Given the description of an element on the screen output the (x, y) to click on. 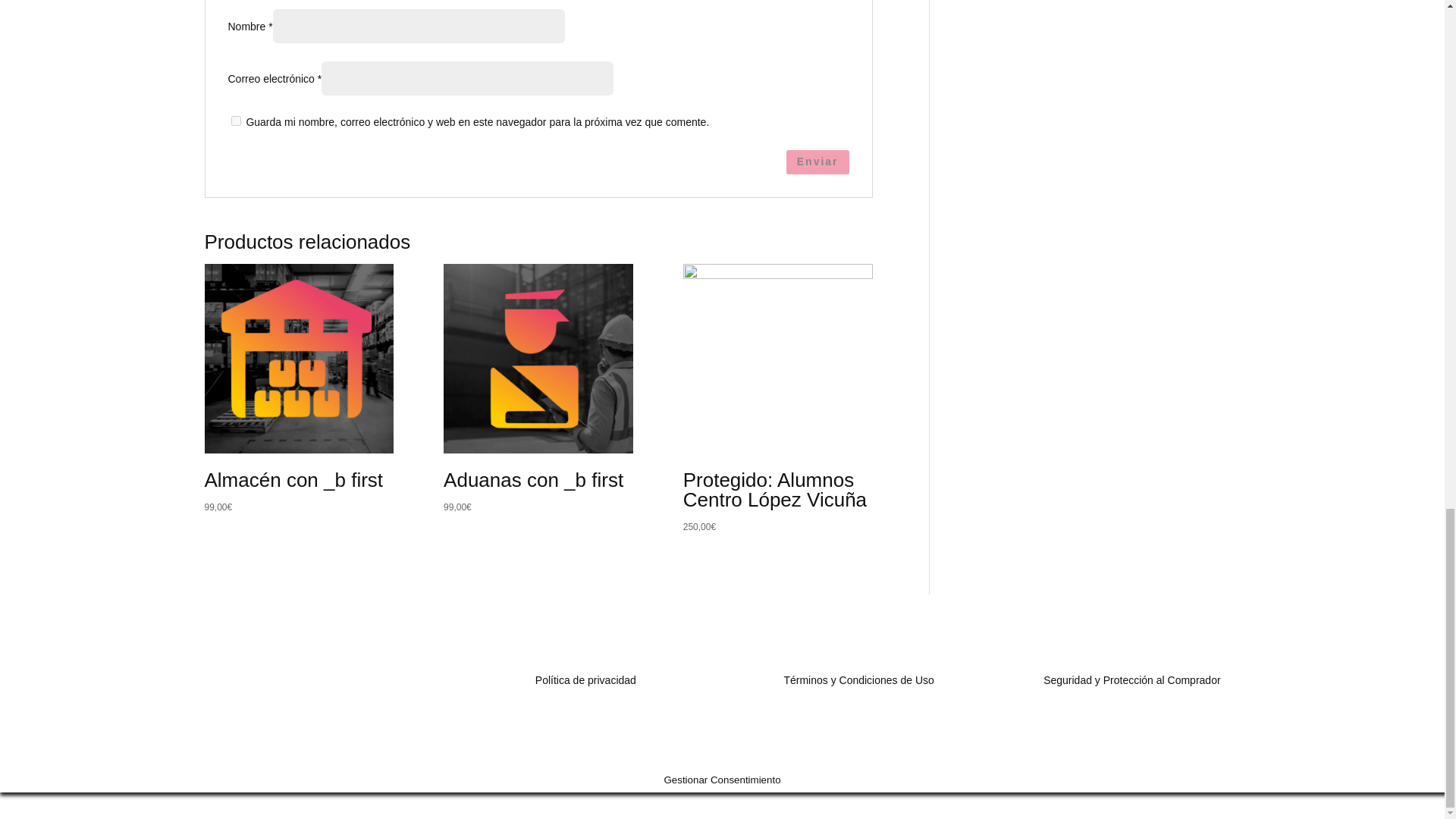
Enviar (817, 161)
yes (235, 121)
Enviar (817, 161)
